Given the description of an element on the screen output the (x, y) to click on. 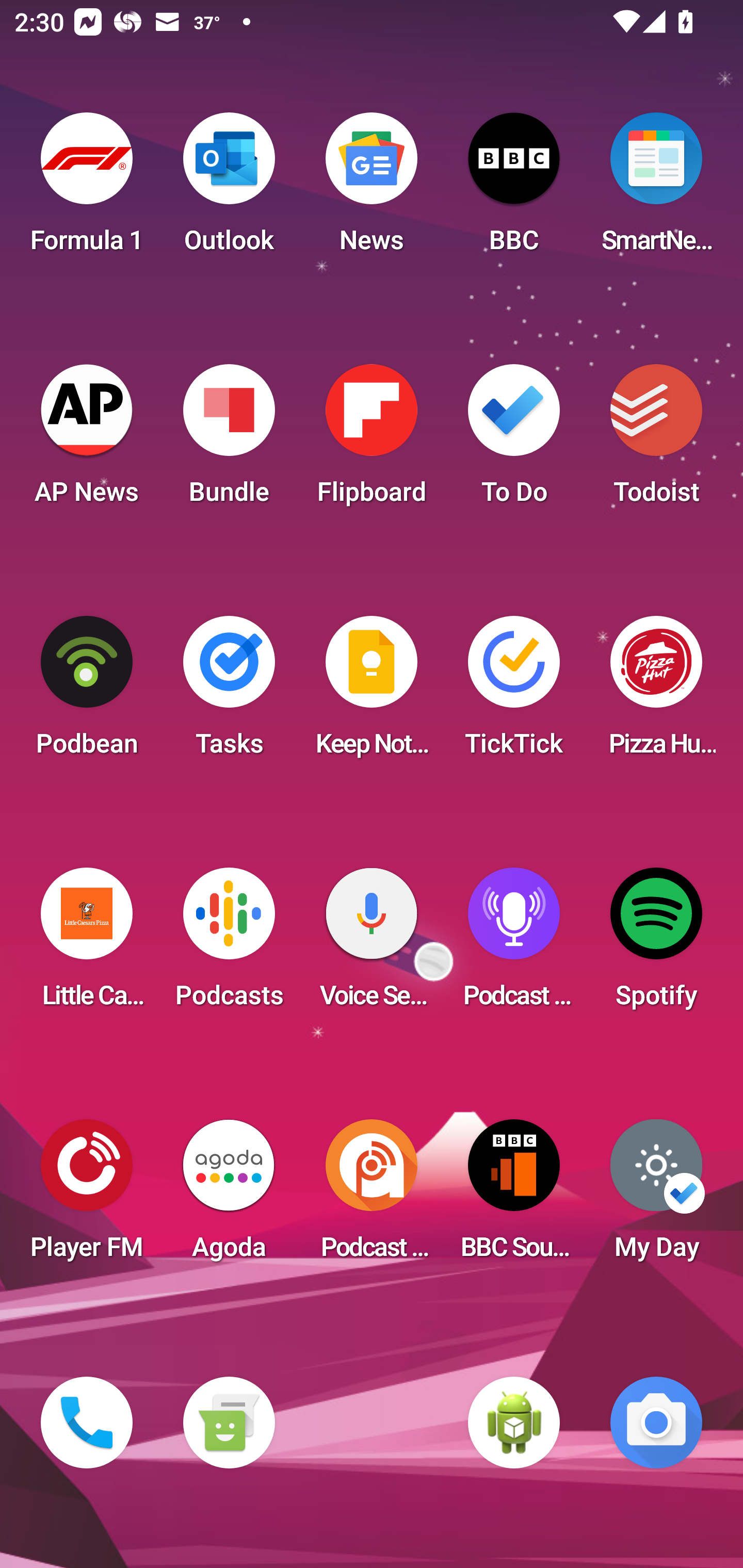
Formula 1 (86, 188)
Outlook (228, 188)
News (371, 188)
BBC (513, 188)
SmartNews (656, 188)
AP News (86, 440)
Bundle (228, 440)
Flipboard (371, 440)
To Do (513, 440)
Todoist (656, 440)
Podbean (86, 692)
Tasks (228, 692)
Keep Notes (371, 692)
TickTick (513, 692)
Pizza Hut HK & Macau (656, 692)
Little Caesars Pizza (86, 943)
Podcasts (228, 943)
Voice Search (371, 943)
Podcast Player (513, 943)
Spotify (656, 943)
Player FM (86, 1195)
Agoda (228, 1195)
Podcast Addict (371, 1195)
BBC Sounds (513, 1195)
My Day (656, 1195)
Phone (86, 1422)
Messaging (228, 1422)
WebView Browser Tester (513, 1422)
Camera (656, 1422)
